Given the description of an element on the screen output the (x, y) to click on. 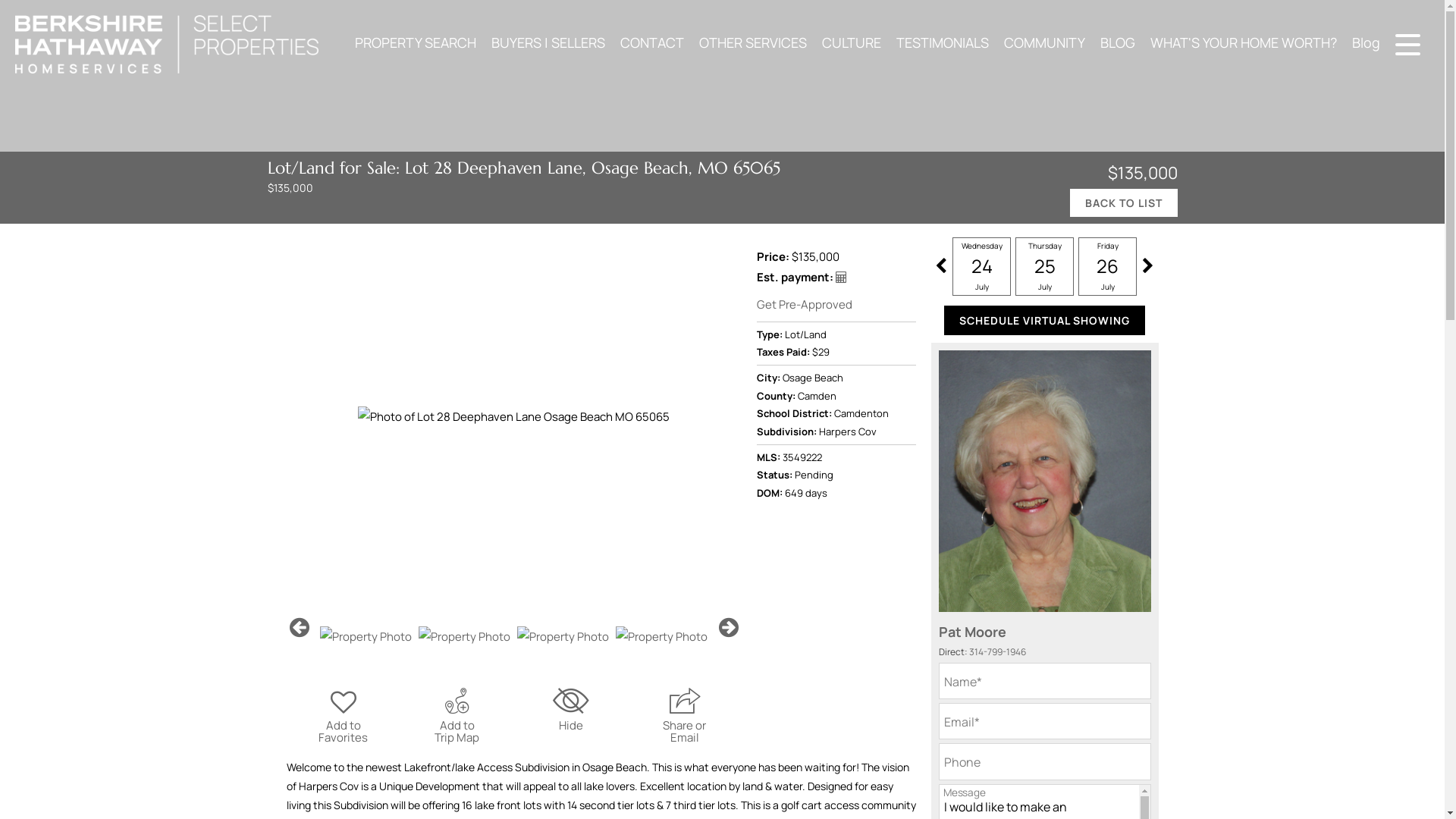
Lot 28 Deephaven Lane Osage Beach MO 65065 (513, 416)
CONTACT (651, 42)
CULTURE (850, 42)
COMMUNITY (1044, 42)
OTHER SERVICES (752, 42)
PROPERTY SEARCH (415, 42)
TESTIMONIALS (941, 42)
